Given the description of an element on the screen output the (x, y) to click on. 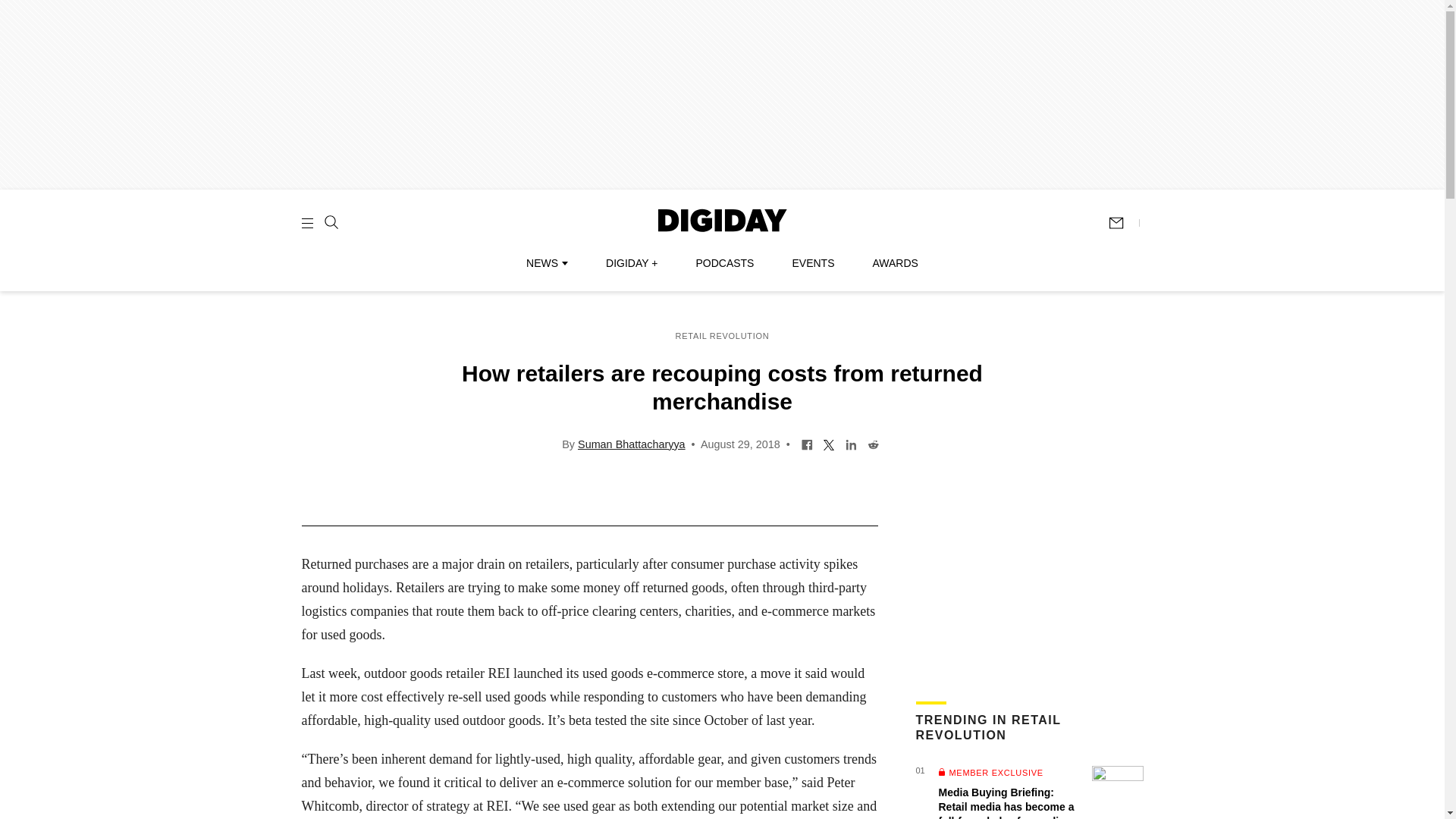
AWARDS (894, 262)
Share on Reddit (872, 443)
PODCASTS (725, 262)
Share on LinkedIn (850, 443)
Subscribe (1123, 223)
NEWS (546, 262)
Share on Twitter (828, 443)
Share on Facebook (806, 443)
EVENTS (813, 262)
